Given the description of an element on the screen output the (x, y) to click on. 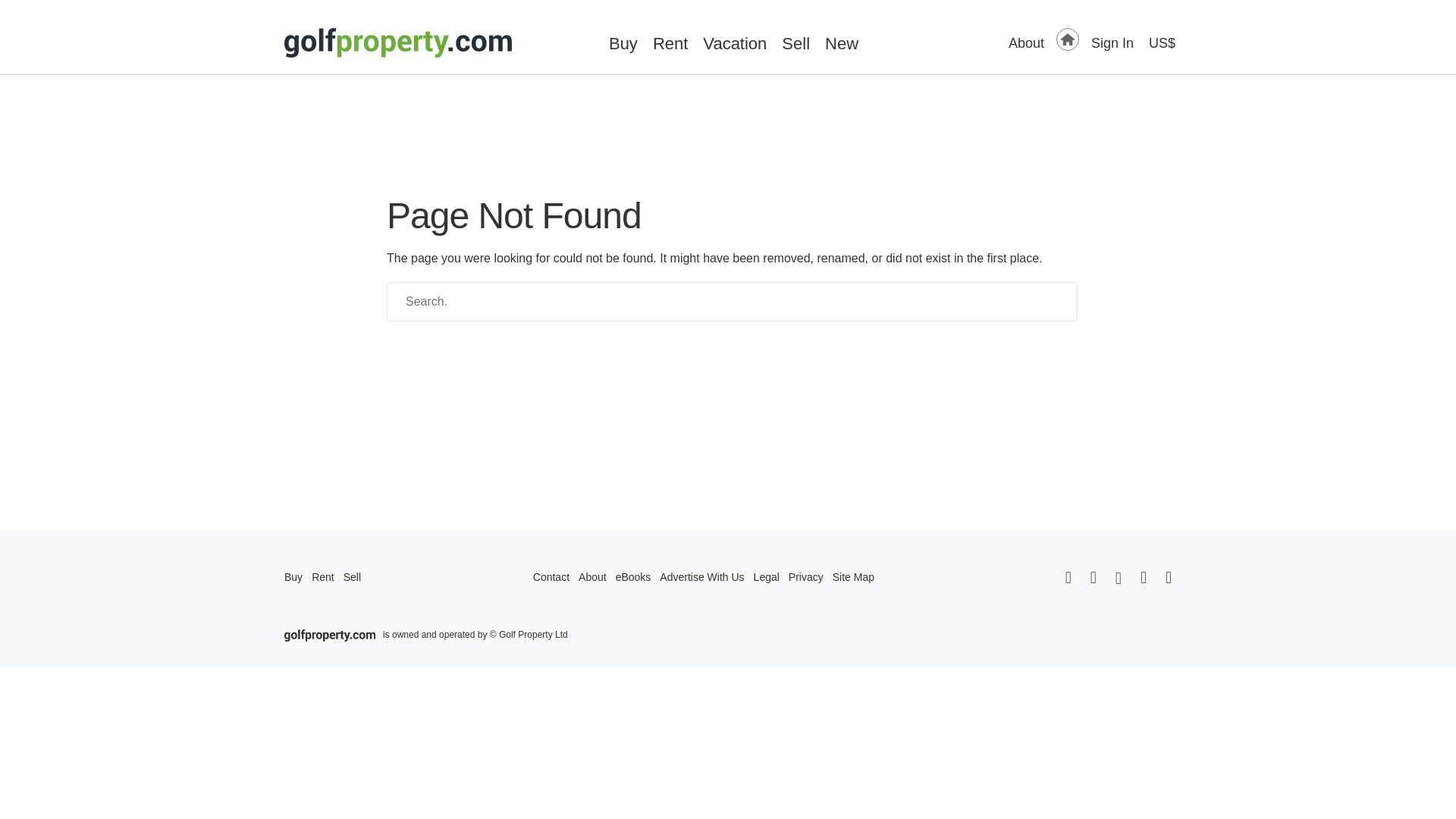
Rent (669, 44)
Vacation (735, 44)
Buy (622, 44)
About (1026, 43)
Sell (795, 44)
Sign In (1112, 43)
New (841, 44)
Find Golf Homes for Sale (1067, 38)
